Given the description of an element on the screen output the (x, y) to click on. 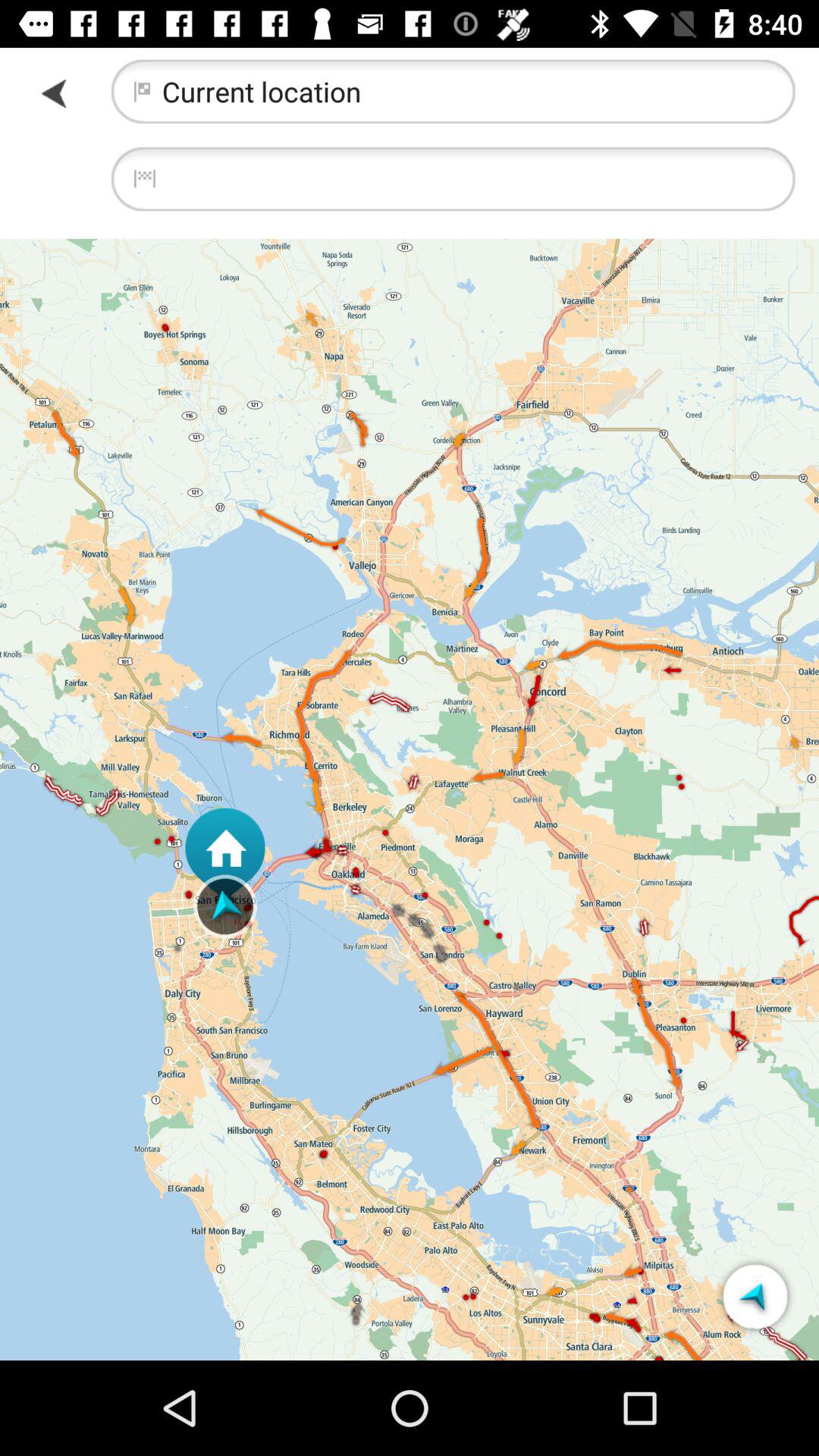
location icon (755, 1296)
